Given the description of an element on the screen output the (x, y) to click on. 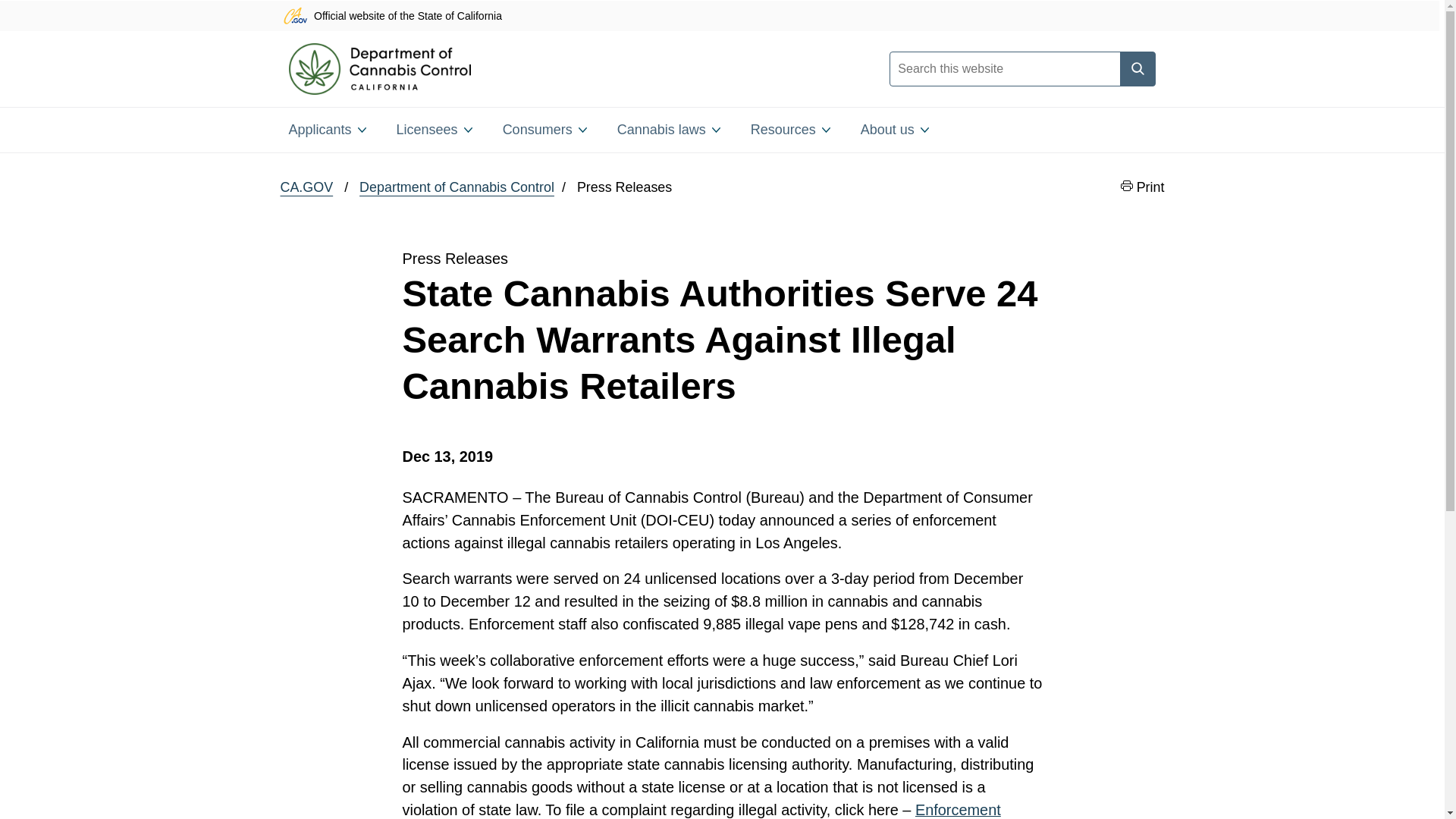
ca.gov logo (294, 15)
Resources (790, 129)
Department of Cannabis Control (456, 187)
CA.GOV (307, 187)
Consumers (544, 129)
Licensees (434, 129)
Cannabis laws (668, 129)
Applicants (326, 129)
